Given the description of an element on the screen output the (x, y) to click on. 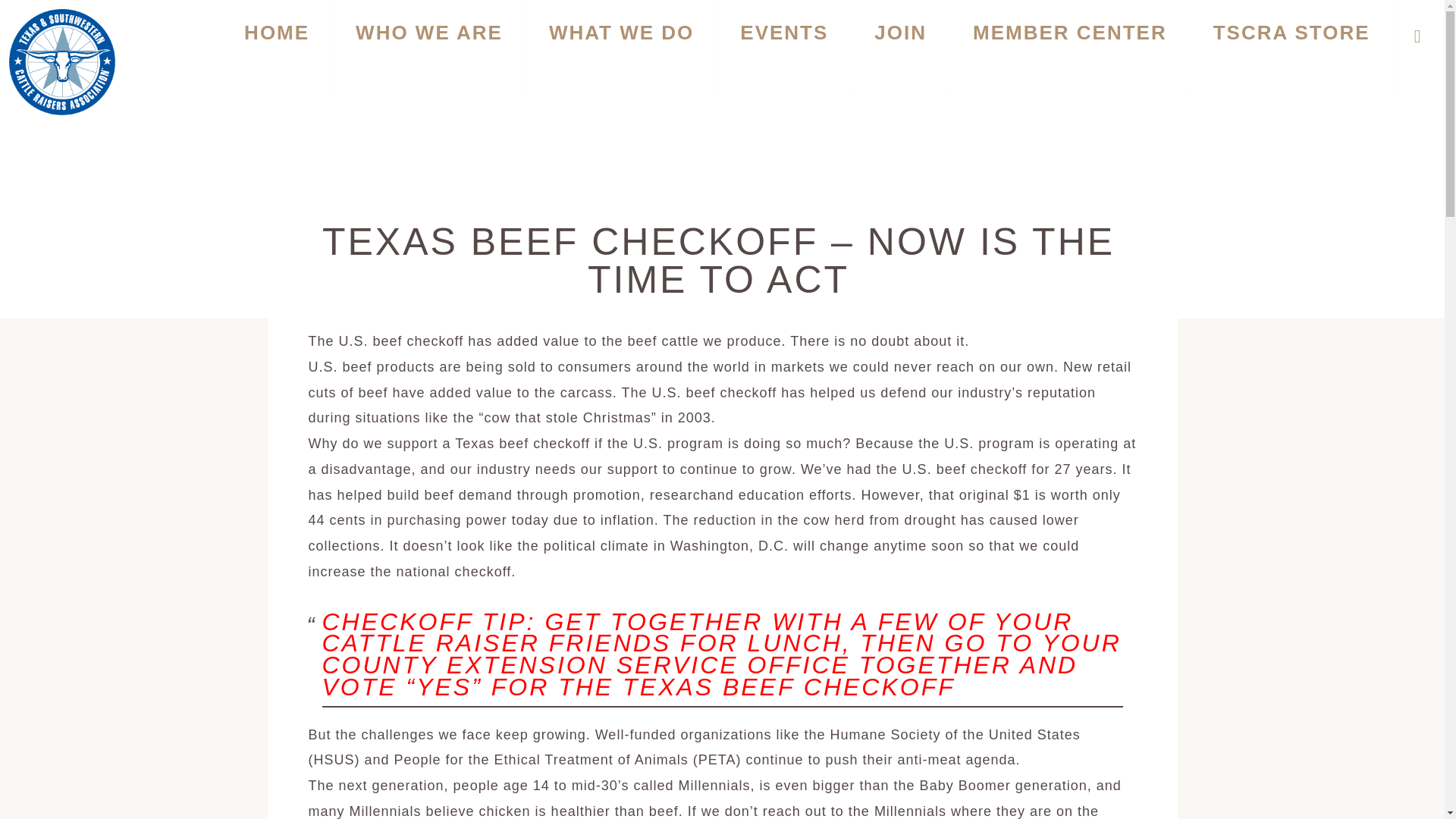
MEMBER CENTER (1069, 45)
HOME (276, 45)
EVENTS (783, 45)
TSCRA STORE (1292, 45)
WHAT WE DO (620, 45)
JOIN (900, 45)
WHO WE ARE (429, 45)
